Given the description of an element on the screen output the (x, y) to click on. 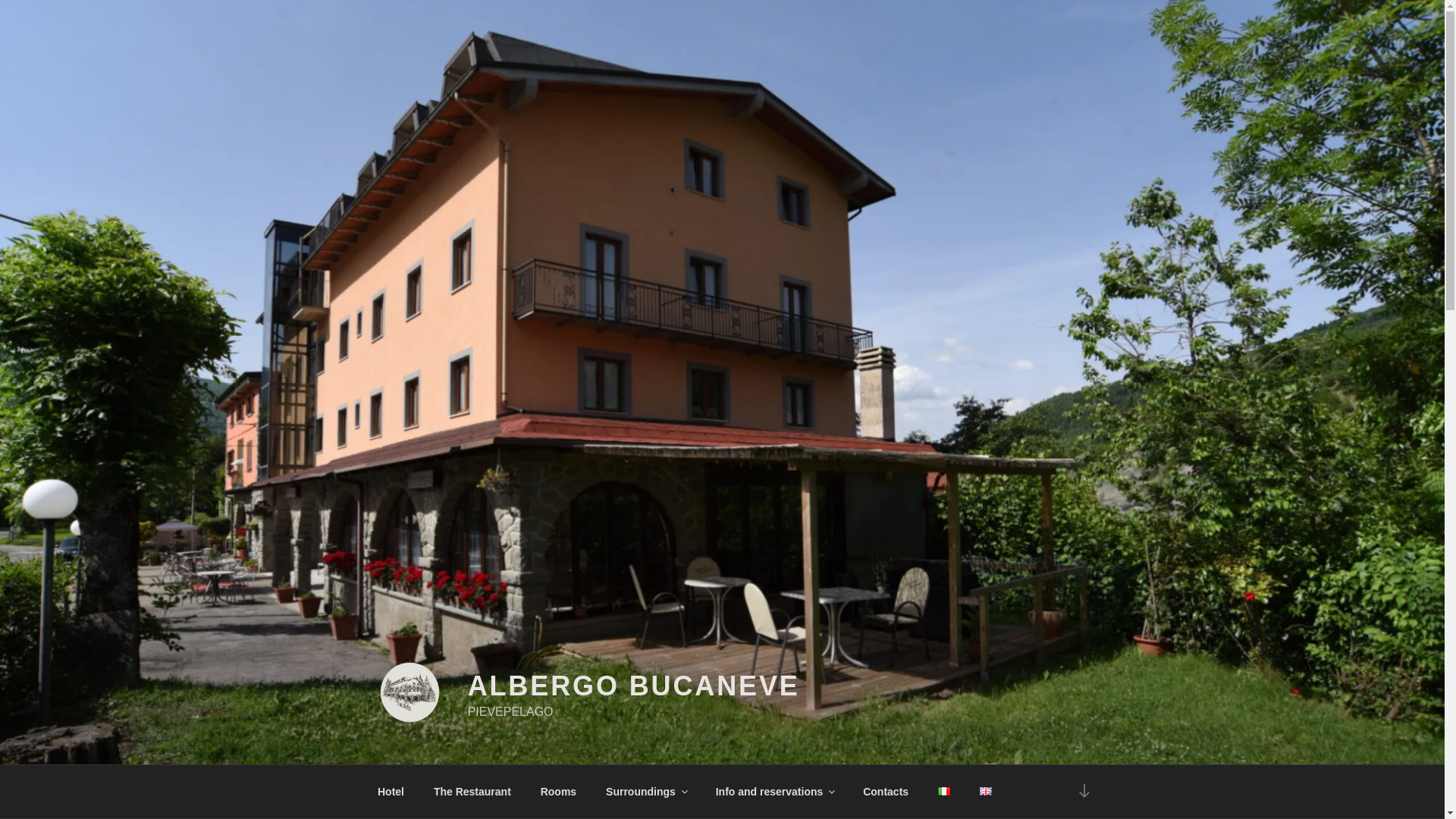
Surroundings (646, 791)
Info and reservations (774, 791)
ALBERGO BUCANEVE (633, 685)
Scroll down to content (1082, 791)
Scroll down to content (1082, 791)
The Restaurant (472, 791)
Contacts (885, 791)
Rooms (558, 791)
Hotel (390, 791)
